Given the description of an element on the screen output the (x, y) to click on. 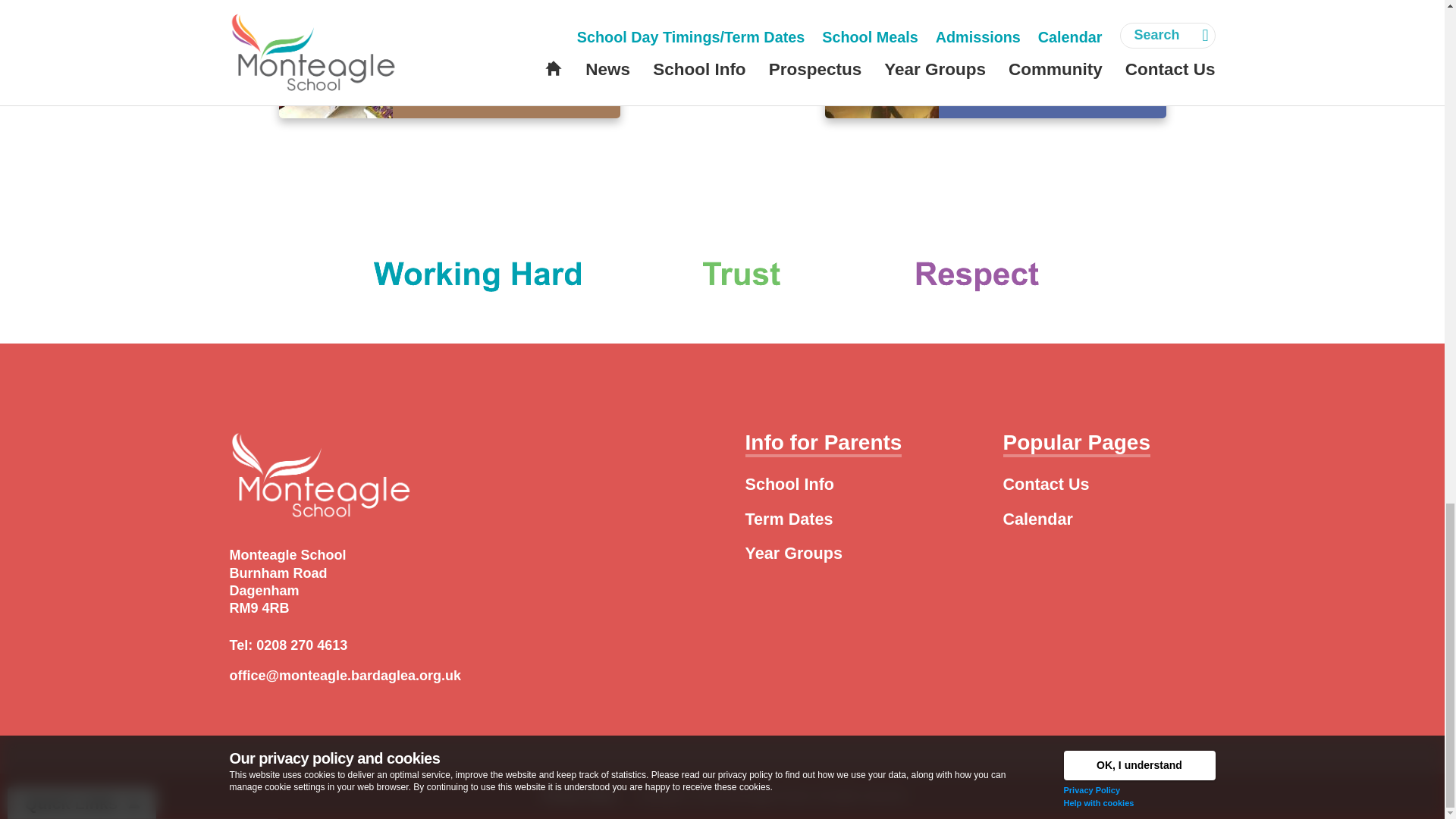
Contact Us (1046, 484)
Exploring the Wonders of Space at the Dome (995, 60)
Year Groups (792, 552)
Y6 Happy News - Lucky Winners (449, 60)
Privacy Policy (580, 795)
Term Dates (788, 518)
School Info (789, 484)
Calendar (1037, 518)
Monteagle School (766, 795)
